Given the description of an element on the screen output the (x, y) to click on. 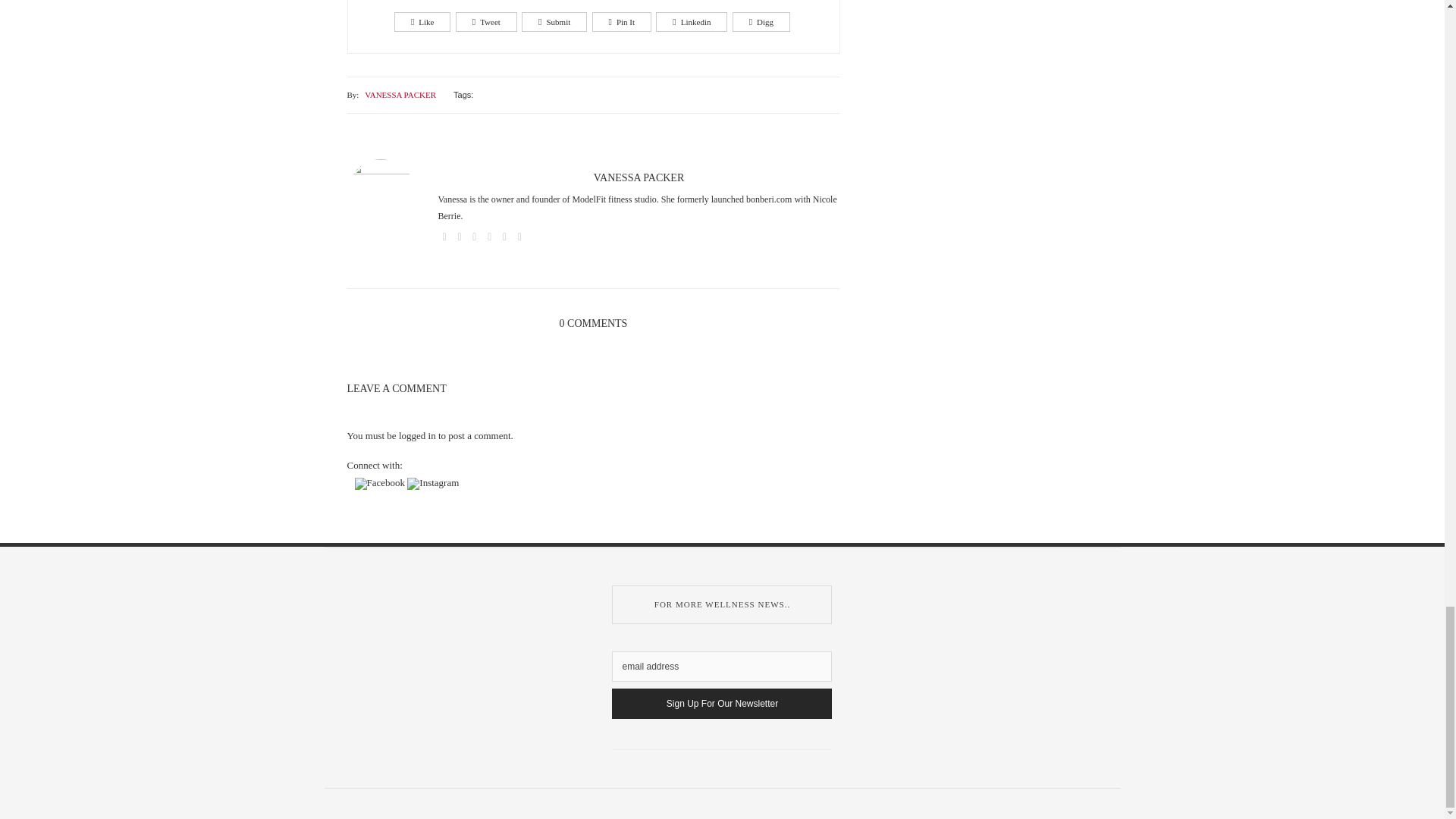
Connect with Instagram (432, 483)
Connect with Facebook (380, 483)
Connect with Instagram (432, 482)
Connect with Facebook (381, 482)
Sign Up For Our Newsletter (721, 703)
